Given the description of an element on the screen output the (x, y) to click on. 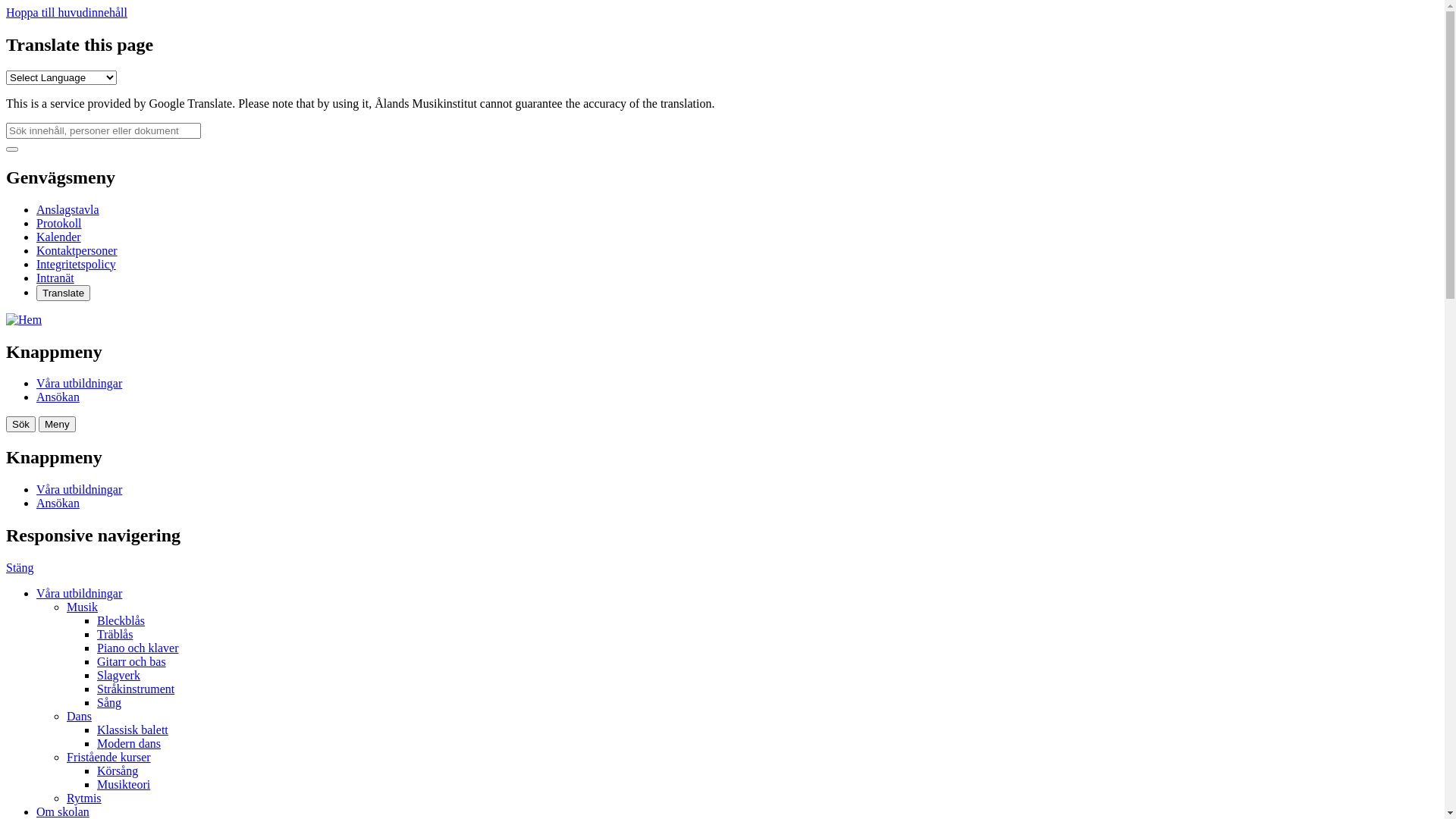
Kalender Element type: text (58, 236)
Piano och klaver Element type: text (137, 647)
Rytmis Element type: text (83, 797)
Anslagstavla Element type: text (67, 209)
Musikteori Element type: text (123, 784)
Translate Element type: text (63, 293)
Meny Element type: text (56, 424)
Om skolan Element type: text (62, 811)
Musik Element type: text (81, 606)
Protokoll Element type: text (58, 222)
Dans Element type: text (78, 715)
Gitarr och bas Element type: text (131, 661)
Hem Element type: hover (23, 319)
Kontaktpersoner Element type: text (76, 250)
Slagverk Element type: text (118, 674)
Modern dans Element type: text (128, 743)
Integritetspolicy Element type: text (76, 263)
Klassisk balett Element type: text (132, 729)
